Given the description of an element on the screen output the (x, y) to click on. 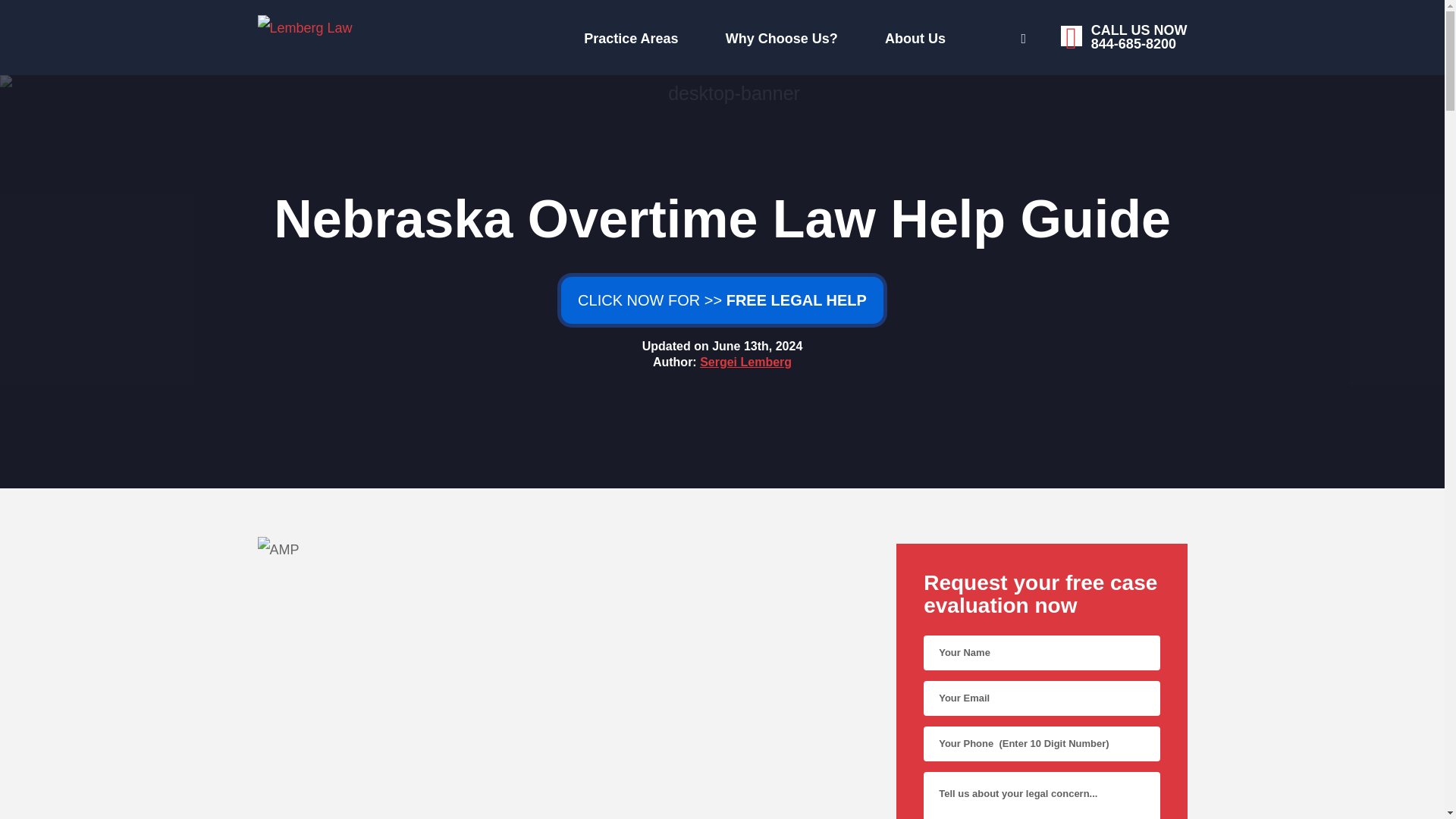
Why Choose Us? (627, 35)
About Us (968, 35)
Practice Areas (760, 35)
Sergei Lemberg (475, 35)
